Given the description of an element on the screen output the (x, y) to click on. 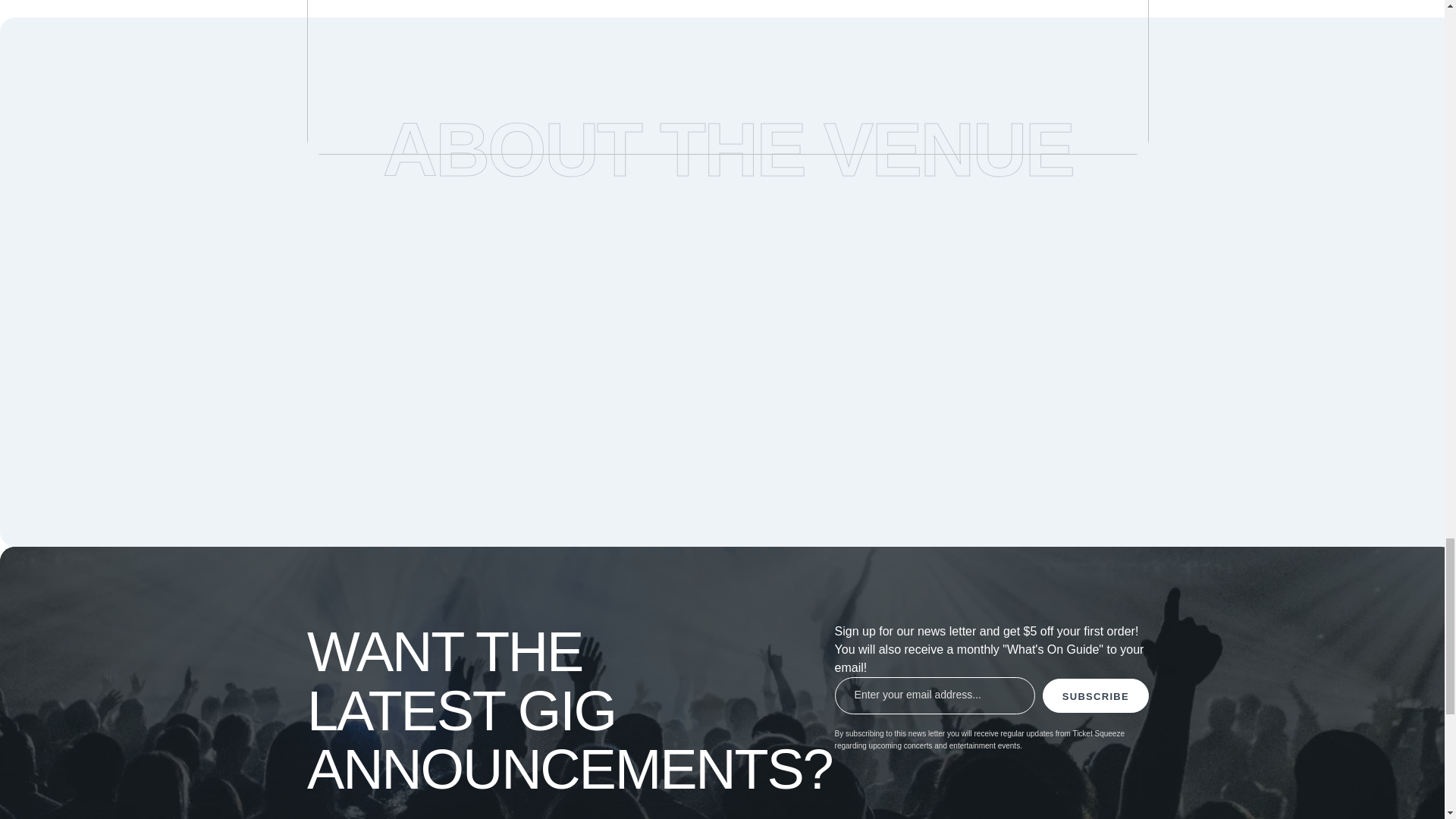
SUBSCRIBE (1095, 695)
Hamilton (727, 77)
